Given the description of an element on the screen output the (x, y) to click on. 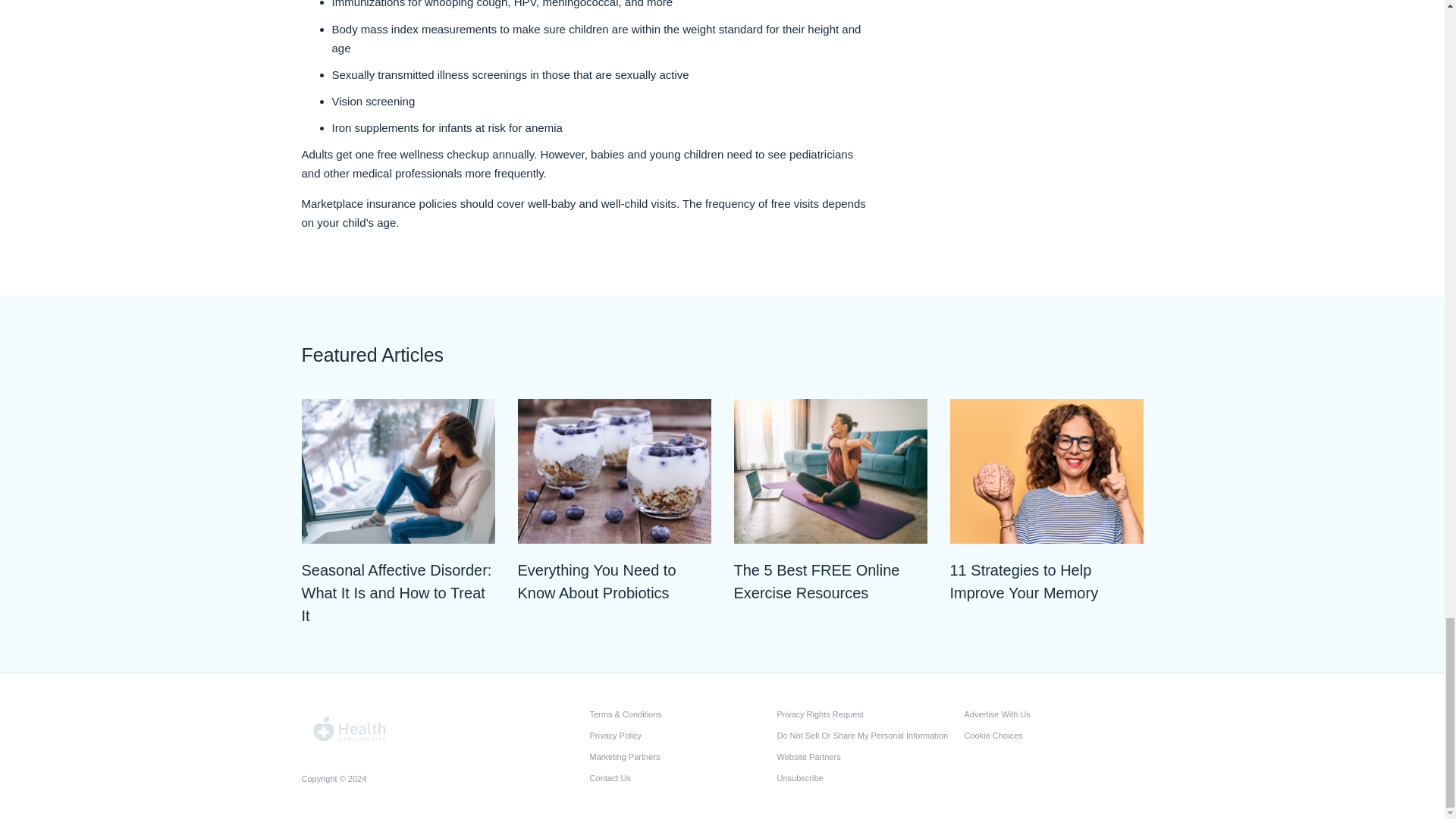
Website Partners (865, 756)
Unsubscribe (865, 777)
Cookie Choices (1052, 735)
Do Not Sell Or Share My Personal Information (865, 735)
11 Strategies to Help Improve Your Memory (1045, 581)
Advertise With Us (1052, 713)
Privacy Policy (678, 735)
Health Daily Updates (350, 729)
Marketing Partners (678, 756)
Do Not Sell Or Share My Personal Information (865, 735)
